Given the description of an element on the screen output the (x, y) to click on. 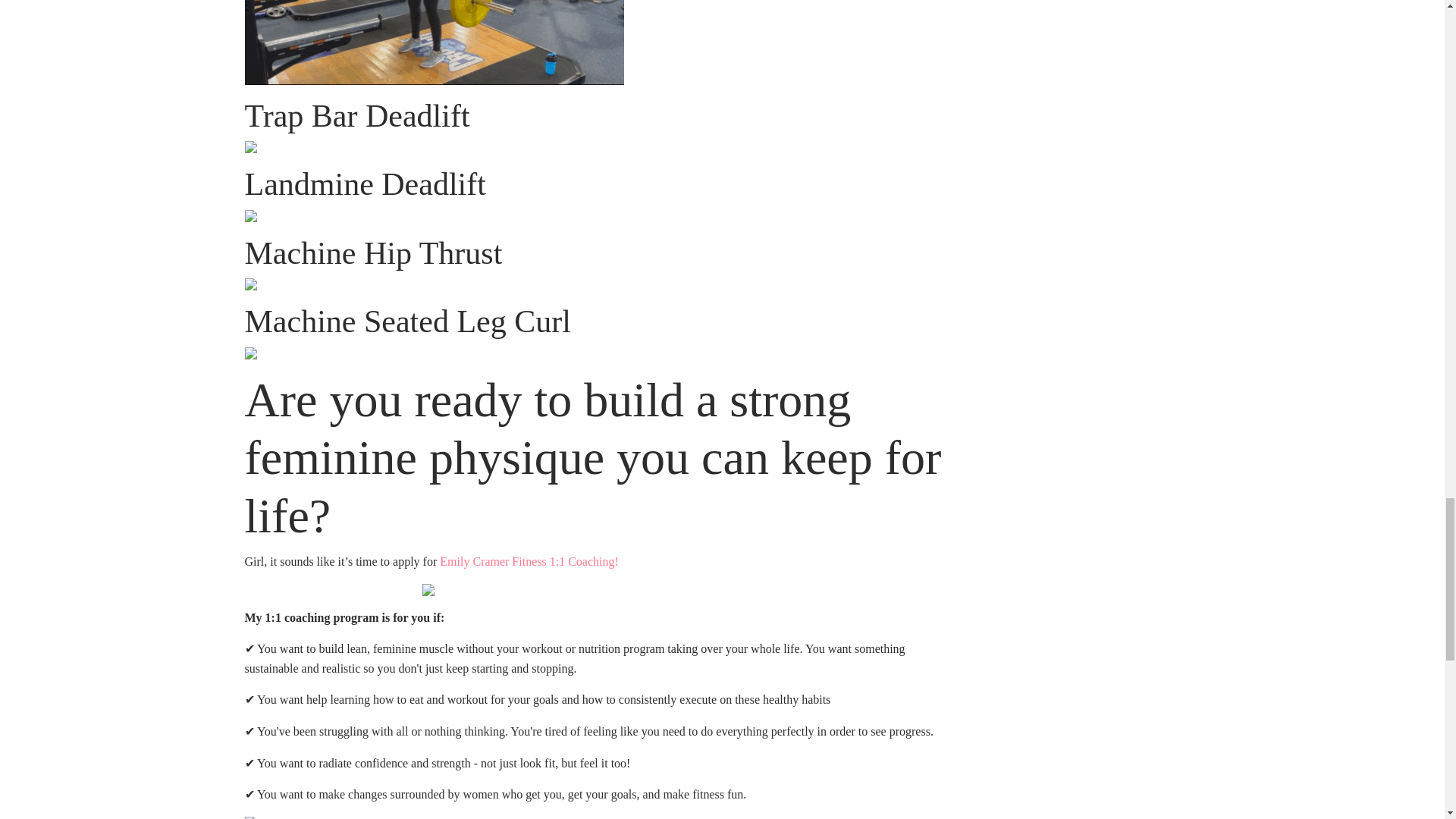
Emily Cramer Fitness 1:1 Coaching! (528, 561)
Emily Cramer Fitness 1:1 Coaching Application (528, 561)
